Given the description of an element on the screen output the (x, y) to click on. 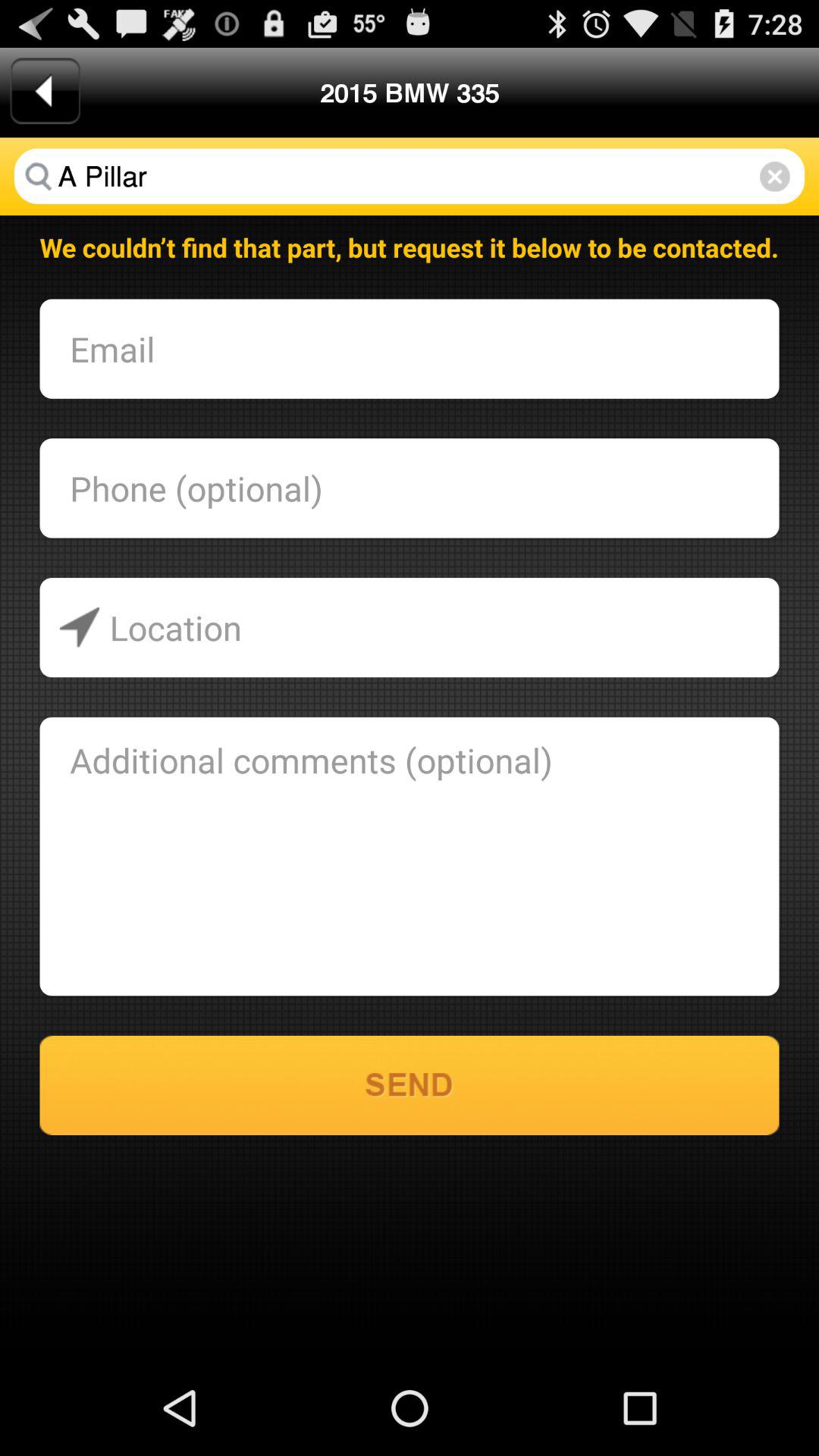
choose the app above the a pillar item (45, 90)
